Given the description of an element on the screen output the (x, y) to click on. 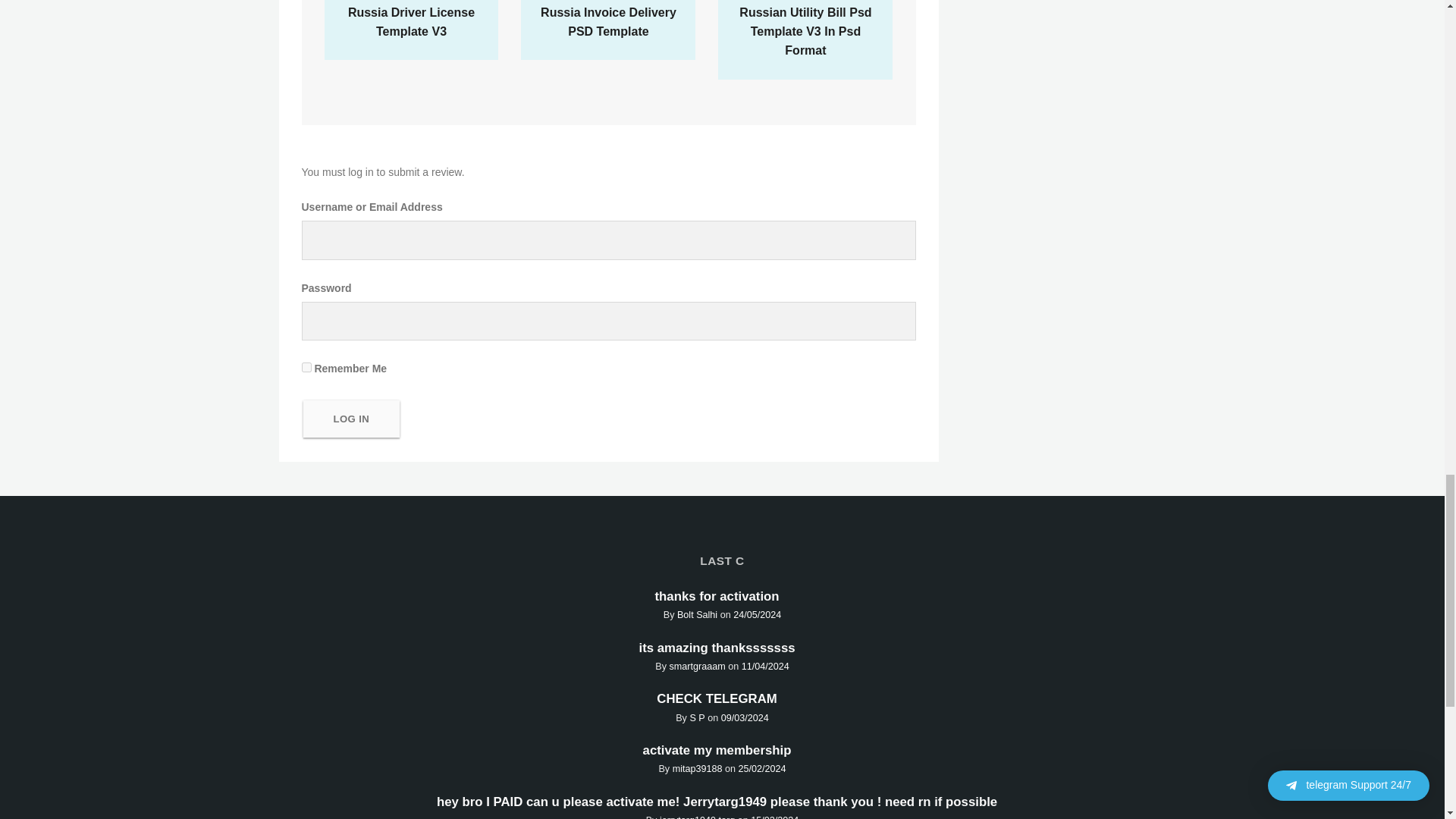
forever (306, 367)
Log In (351, 419)
